Given the description of an element on the screen output the (x, y) to click on. 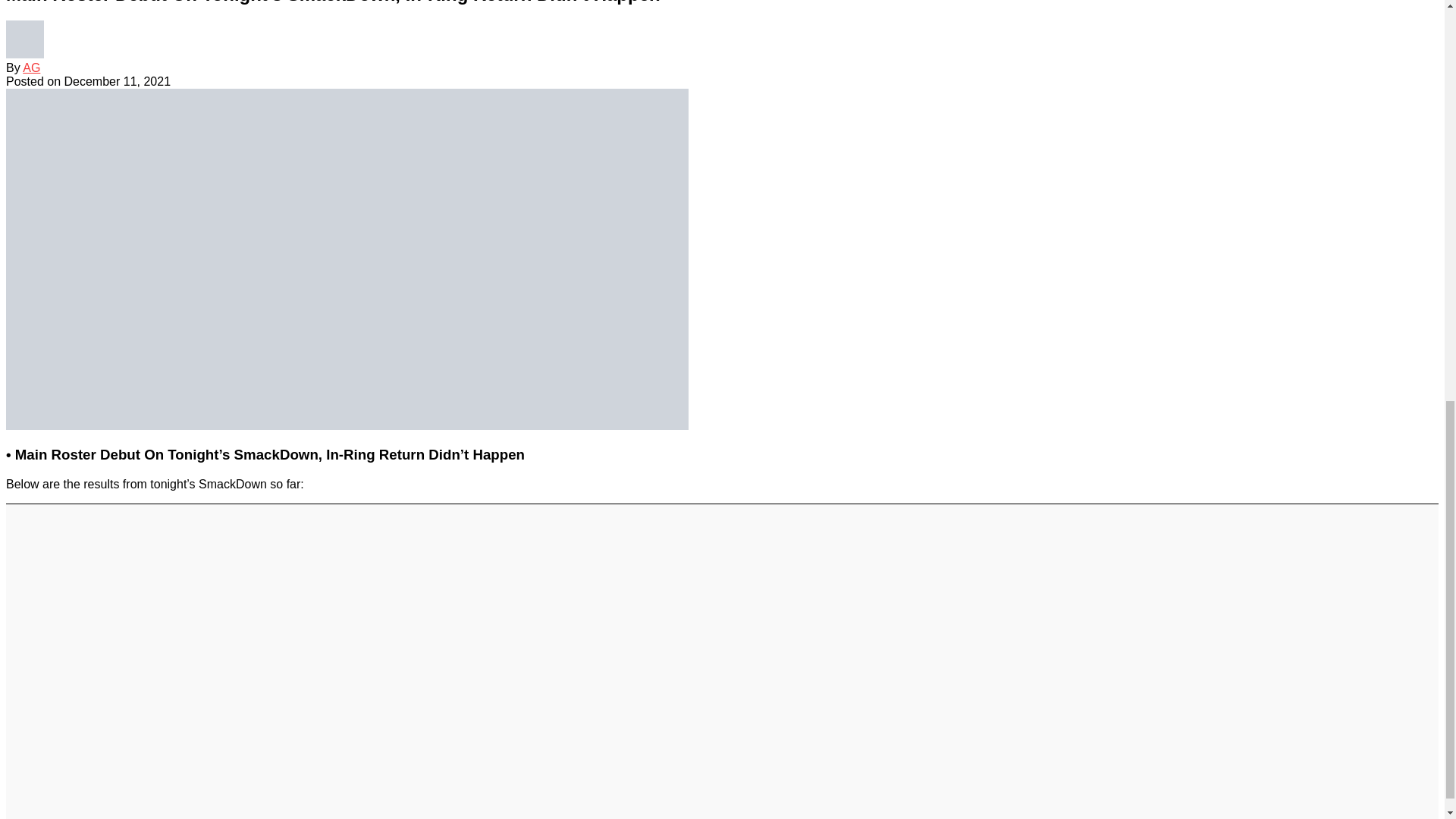
Posts by AG (31, 67)
